Given the description of an element on the screen output the (x, y) to click on. 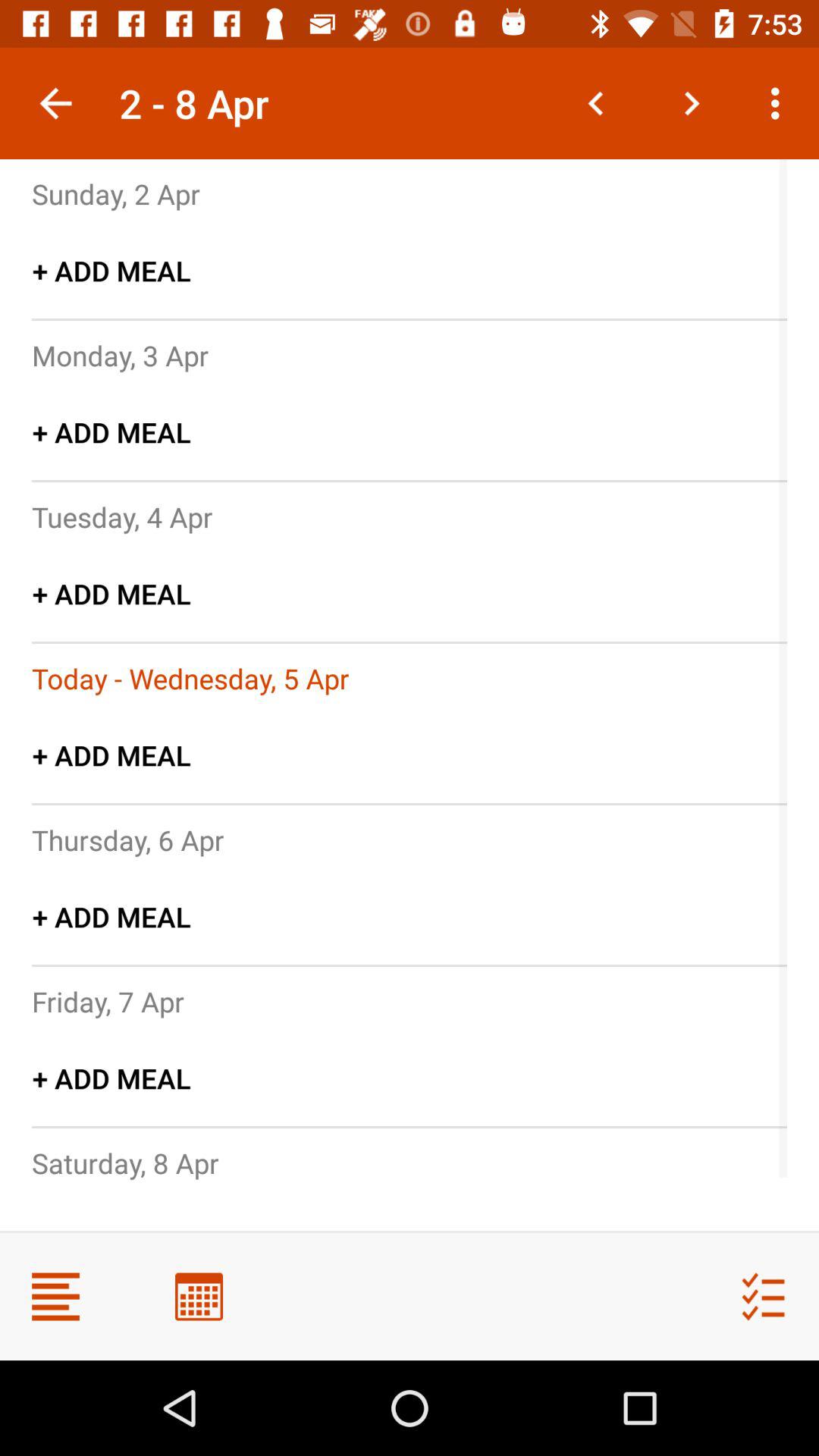
swipe to the sunday, 2 apr icon (115, 193)
